Given the description of an element on the screen output the (x, y) to click on. 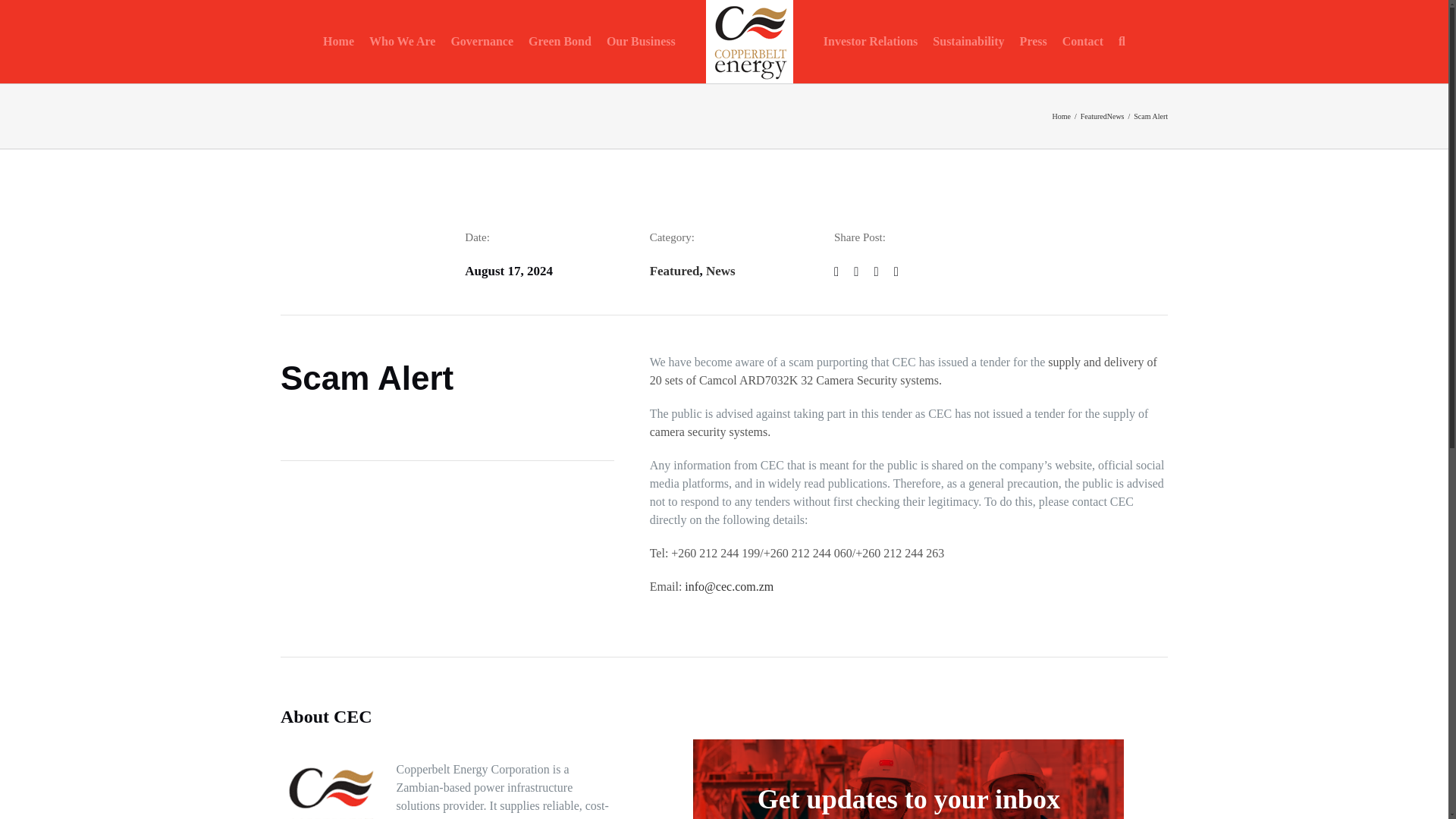
Investor Relations (871, 41)
Featured (674, 270)
News (720, 270)
